Given the description of an element on the screen output the (x, y) to click on. 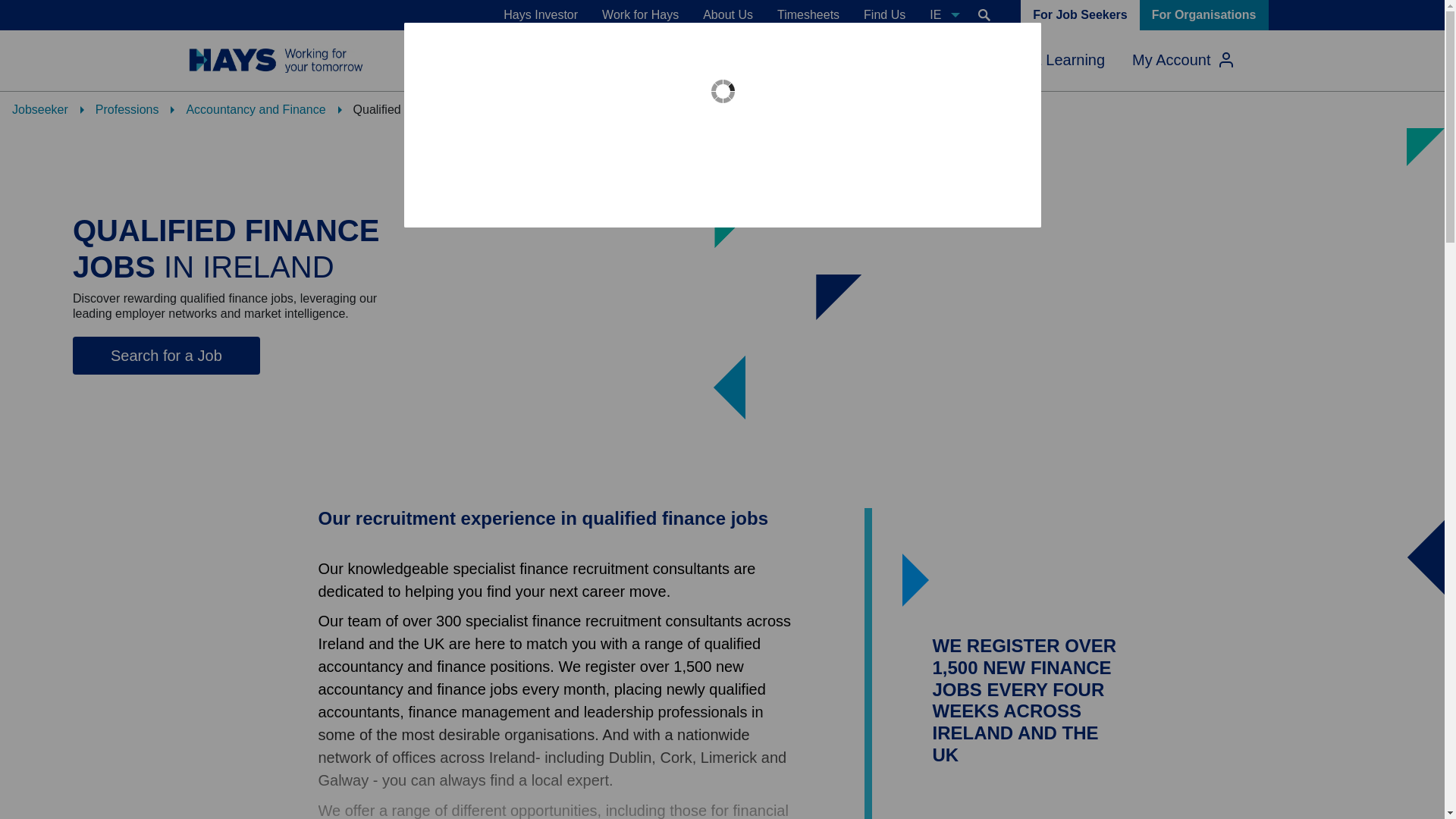
For Organisations (1204, 15)
Find Us (884, 15)
For Job Seekers (1080, 15)
About Us (727, 15)
IE (941, 15)
TrustArc Cookie Consent Manager (722, 124)
Work for Hays (639, 15)
Timesheets (808, 15)
Hays Investor (540, 15)
